Given the description of an element on the screen output the (x, y) to click on. 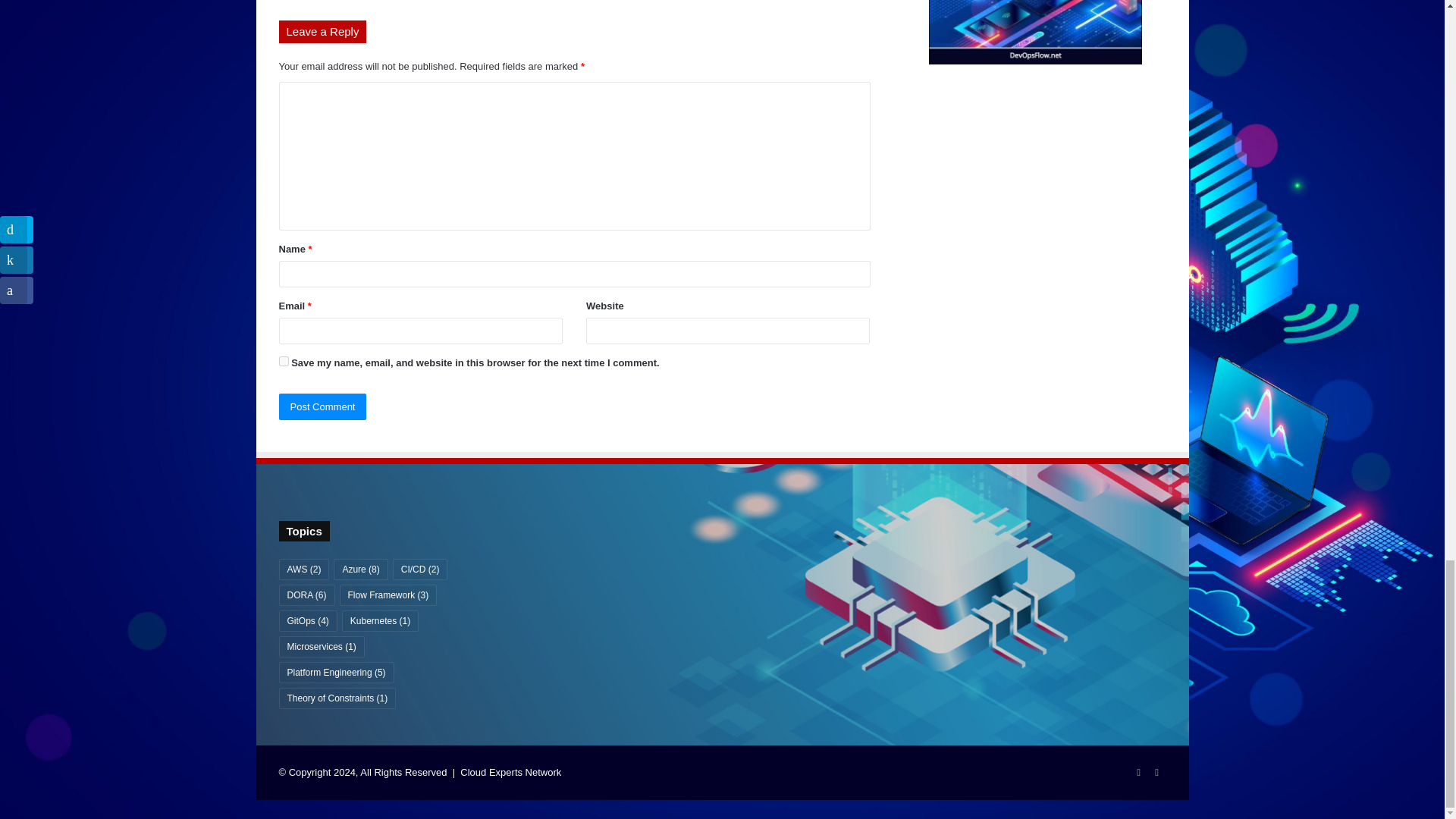
Post Comment (322, 406)
yes (283, 361)
